Given the description of an element on the screen output the (x, y) to click on. 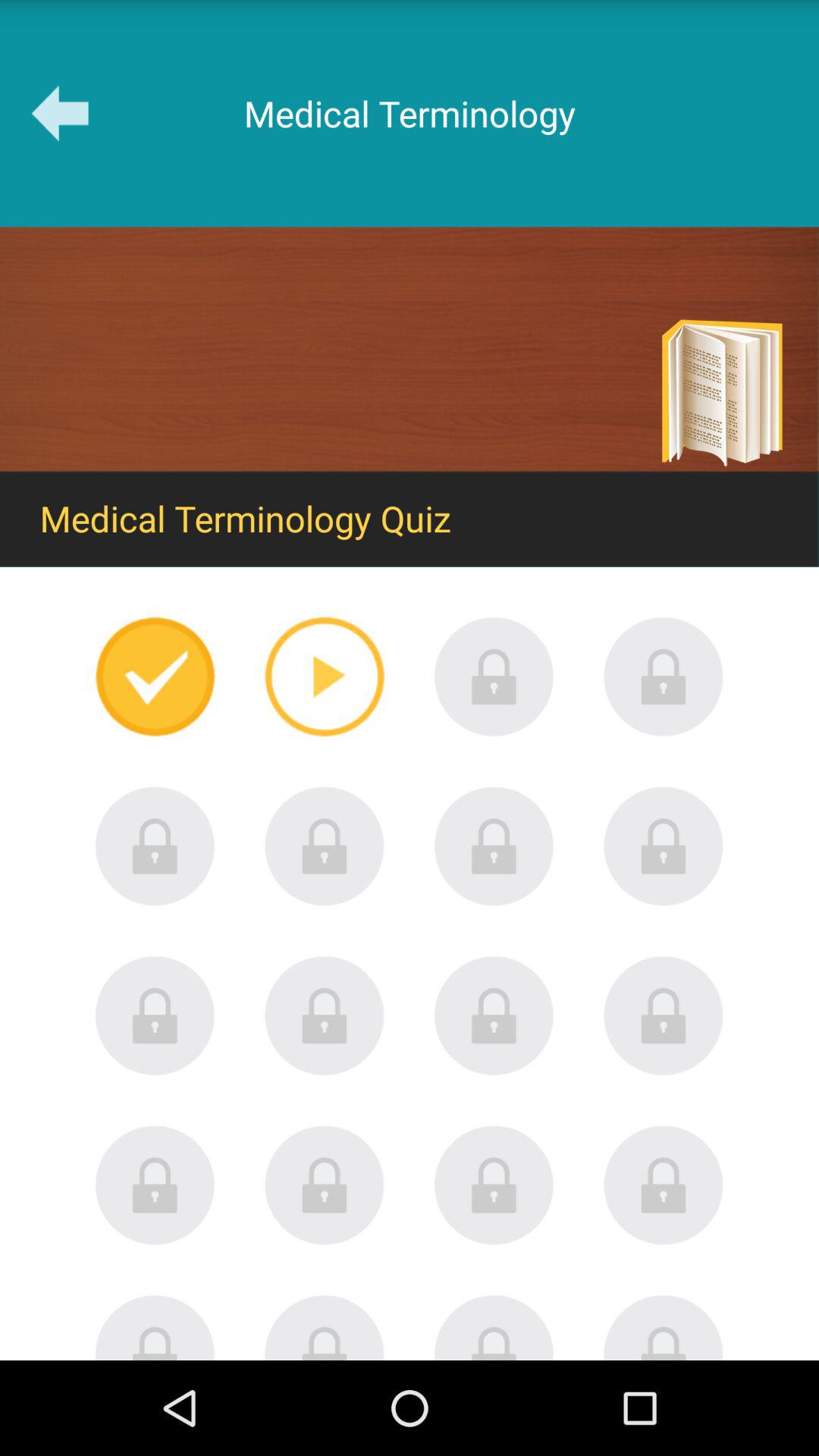
unlock locked item (324, 1184)
